Given the description of an element on the screen output the (x, y) to click on. 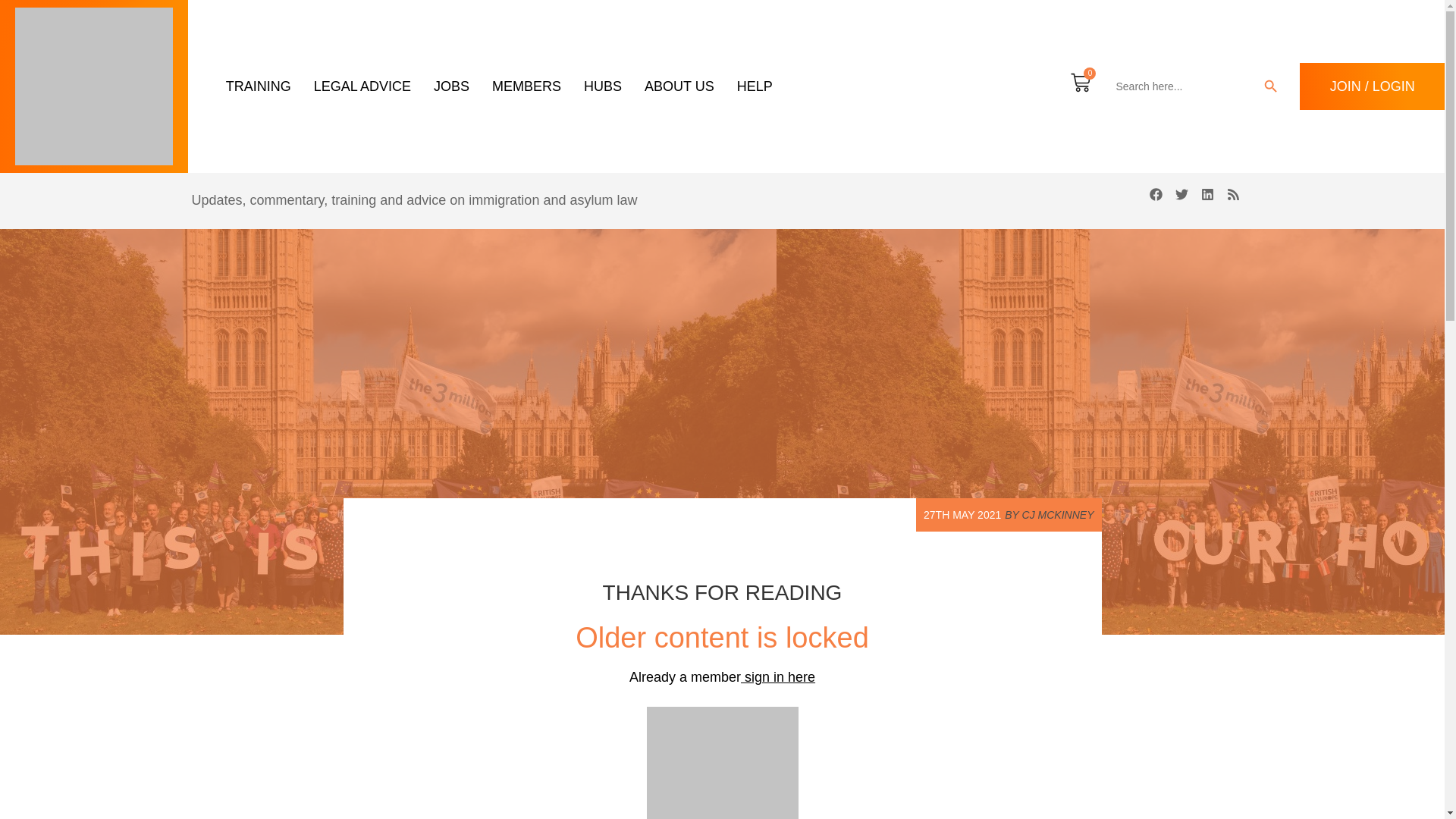
ABOUT US (679, 85)
TRAINING (258, 85)
LEGAL ADVICE (362, 85)
MEMBERS (526, 85)
